Given the description of an element on the screen output the (x, y) to click on. 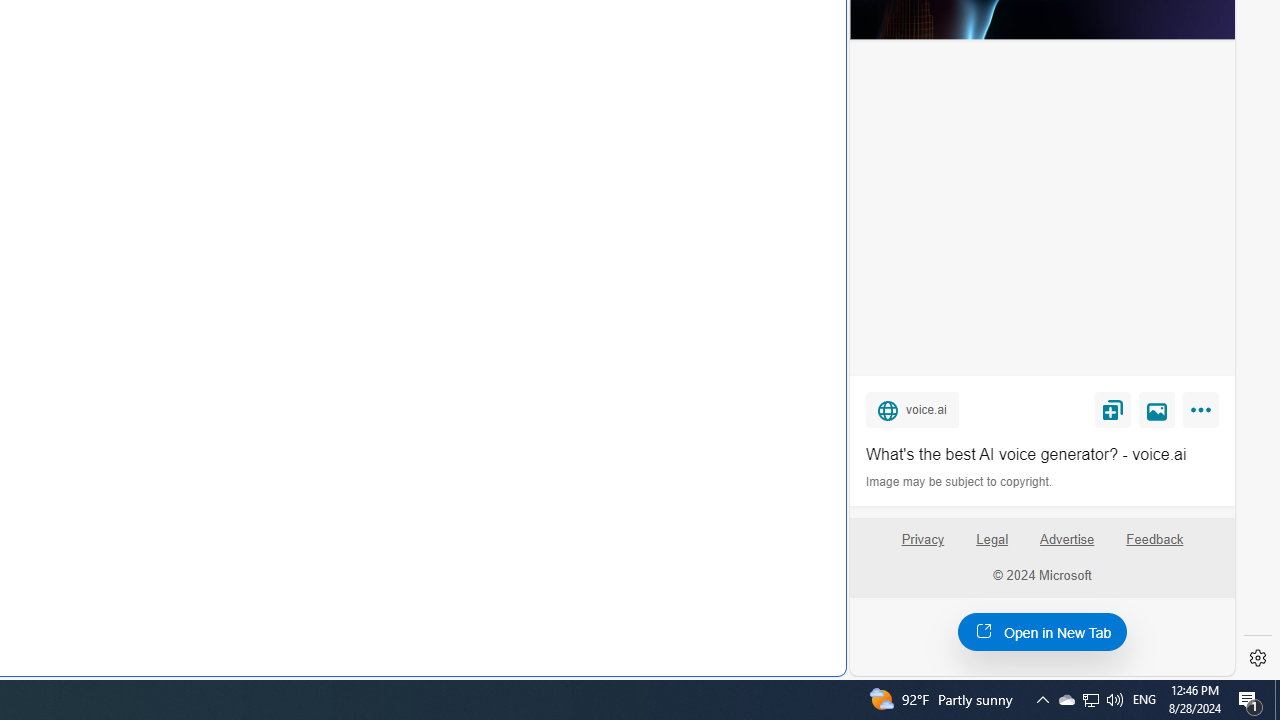
Advertise (1067, 547)
View image (1157, 409)
Feedback (1155, 539)
